Given the description of an element on the screen output the (x, y) to click on. 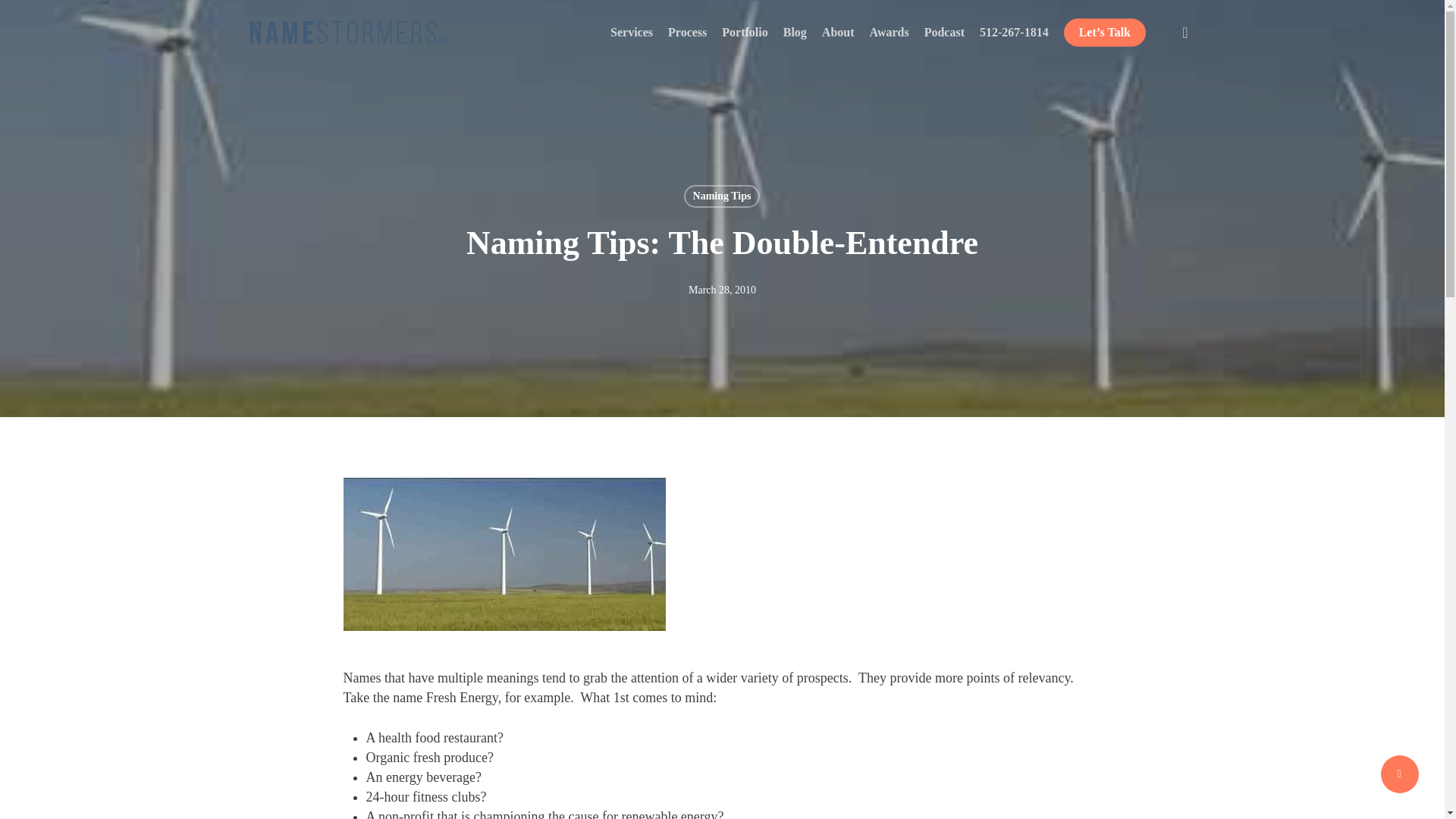
Process (687, 32)
Podcast (943, 32)
Portfolio (744, 32)
512-267-1814 (1013, 32)
Awards (888, 32)
Services (631, 32)
About (838, 32)
search (1184, 32)
Blog (794, 32)
Naming Tips (722, 196)
